Given the description of an element on the screen output the (x, y) to click on. 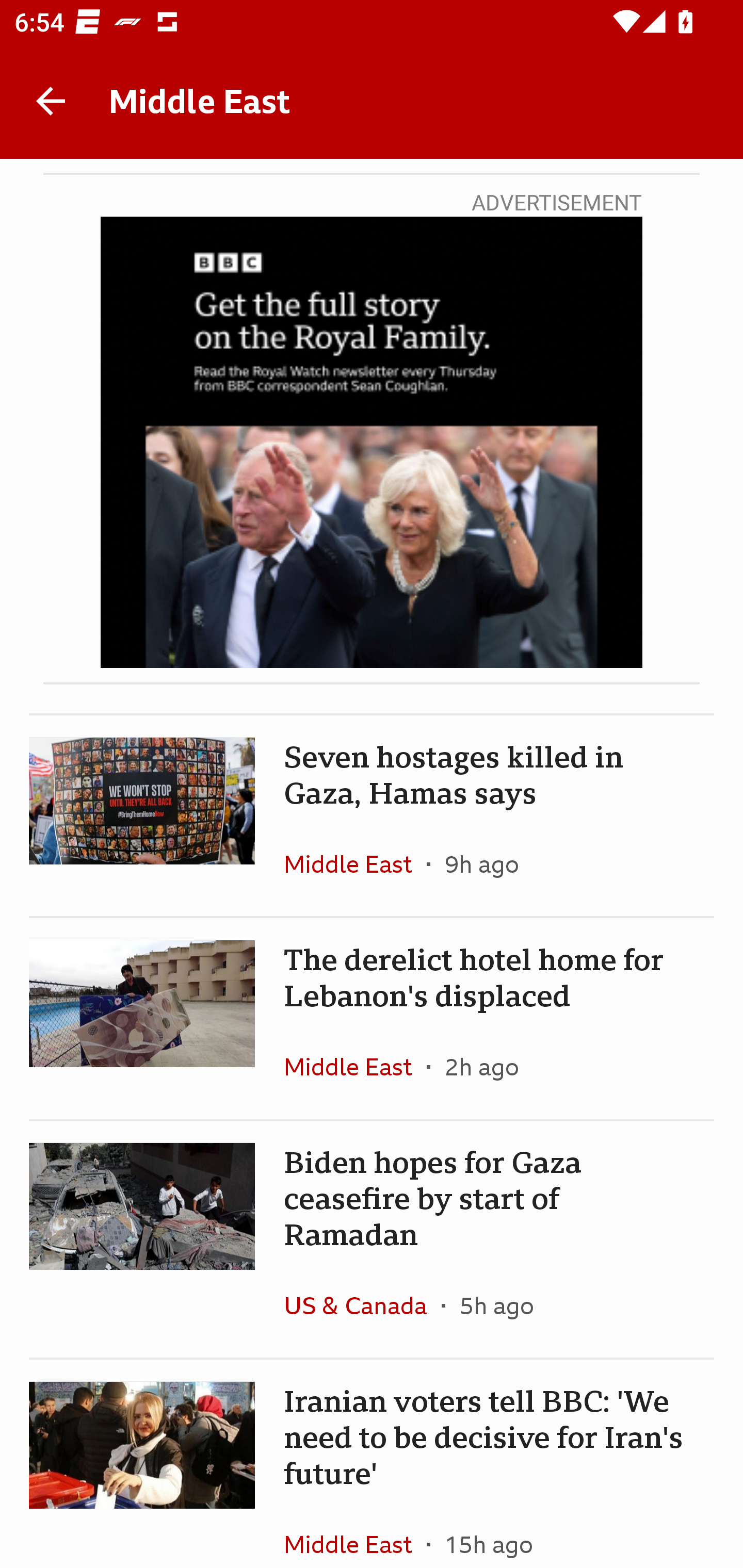
Back (50, 101)
Middle East In the section Middle East (354, 863)
Middle East In the section Middle East (354, 1065)
US & Canada In the section US & Canada (362, 1304)
Middle East In the section Middle East (354, 1530)
